Given the description of an element on the screen output the (x, y) to click on. 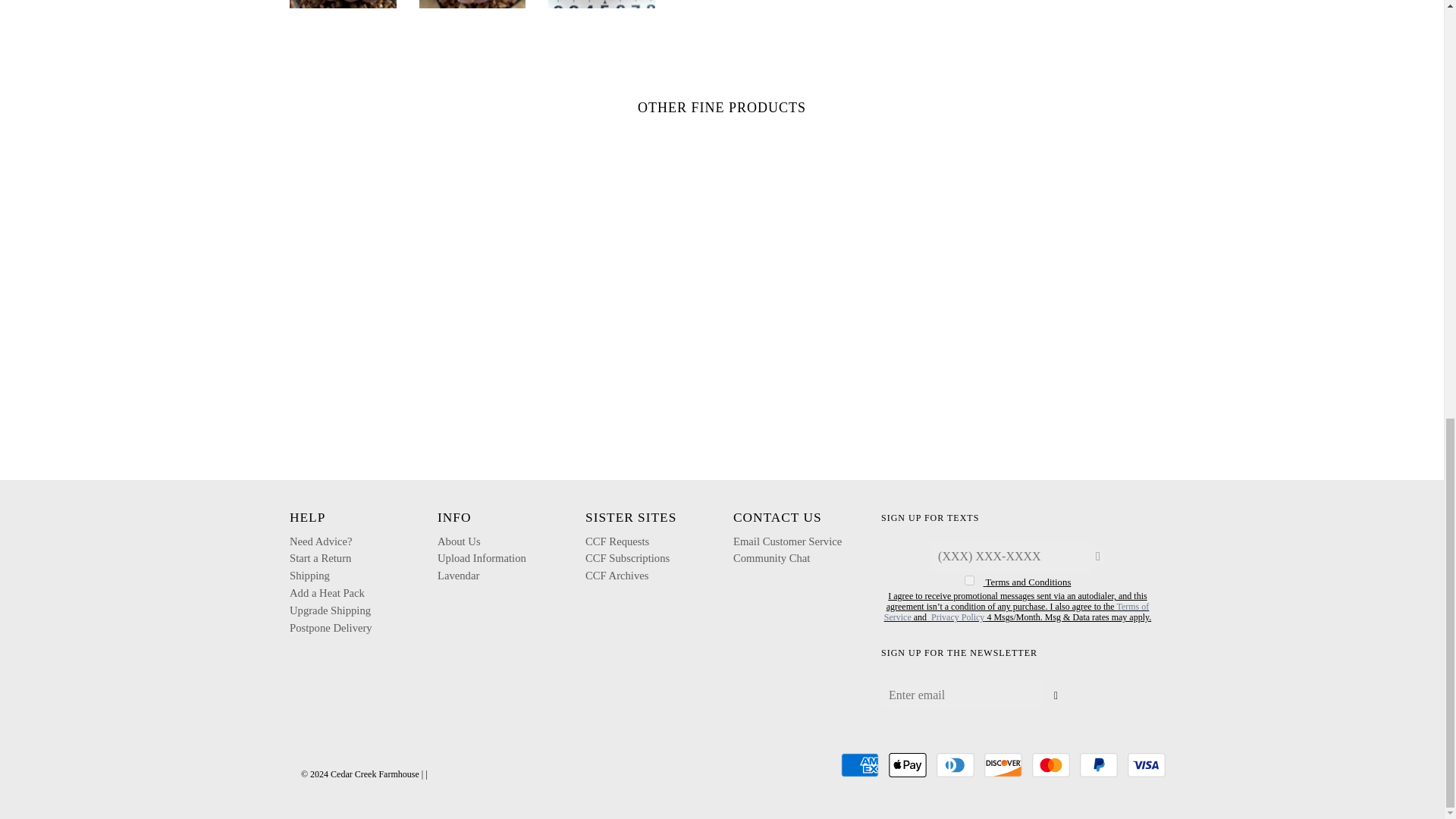
on (968, 580)
